Given the description of an element on the screen output the (x, y) to click on. 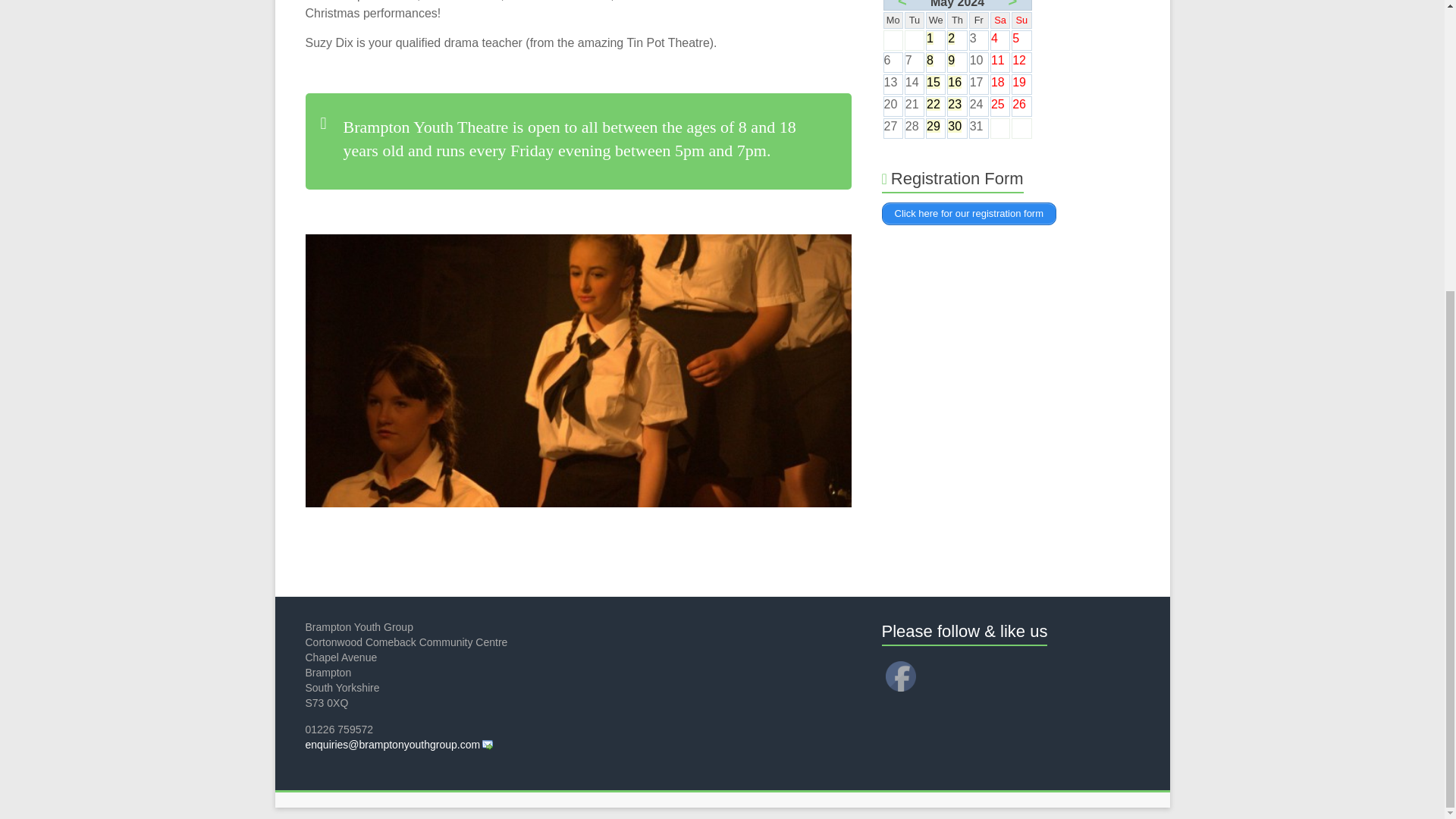
15 (933, 82)
16 (953, 82)
1 (929, 38)
9 (951, 60)
29 (933, 125)
2 (951, 38)
23 (953, 103)
8 (929, 60)
Youth Theatre 9 (152, 370)
Facebook (900, 675)
22 (933, 103)
